Given the description of an element on the screen output the (x, y) to click on. 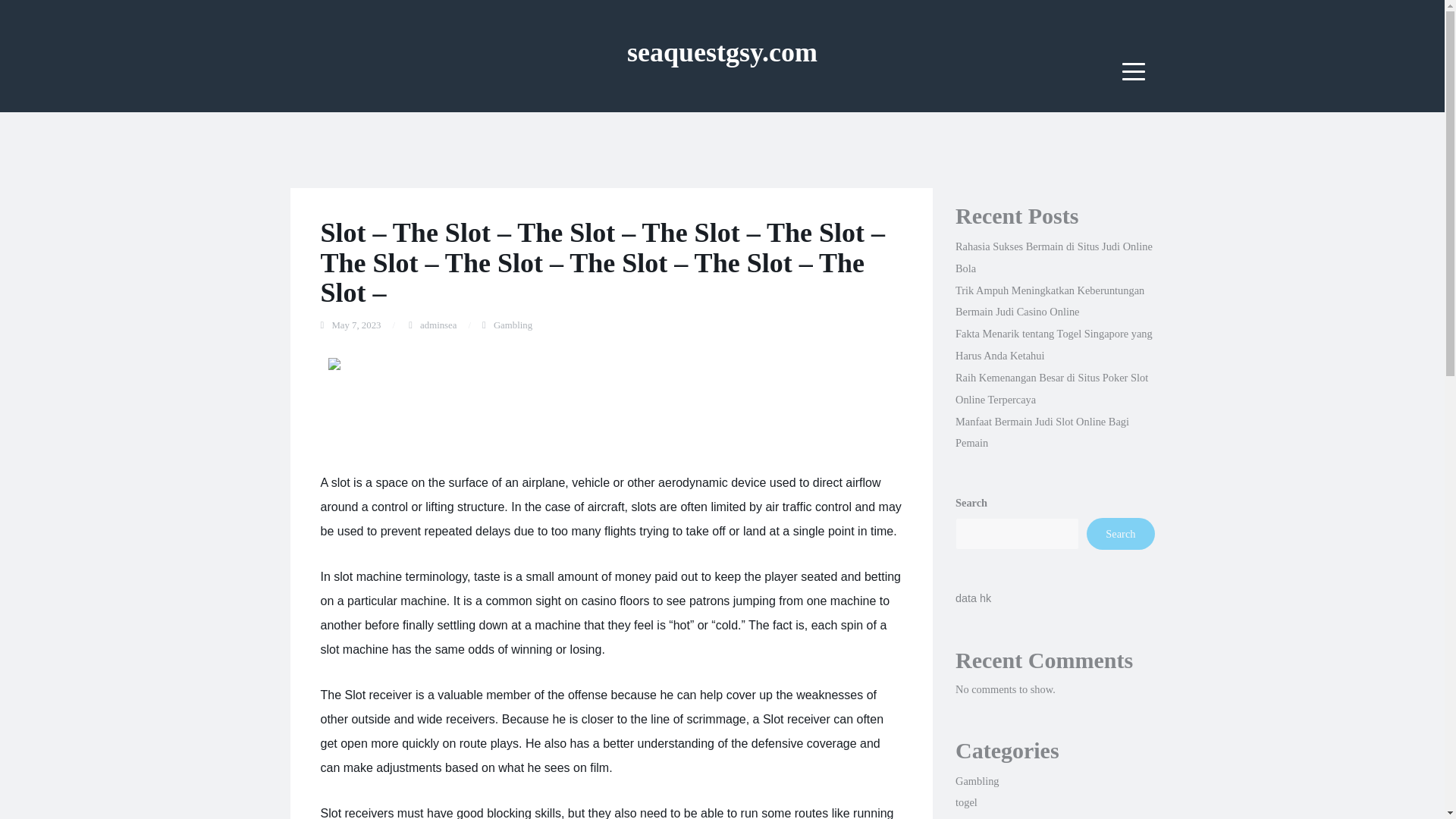
Gambling (512, 325)
Menu (1133, 71)
Manfaat Bermain Judi Slot Online Bagi Pemain (1042, 432)
adminsea (438, 325)
data hk (973, 598)
Rahasia Sukses Bermain di Situs Judi Online Bola (1054, 257)
May 7, 2023 (355, 325)
Raih Kemenangan Besar di Situs Poker Slot Online Terpercaya (1051, 388)
Search (1120, 533)
